Given the description of an element on the screen output the (x, y) to click on. 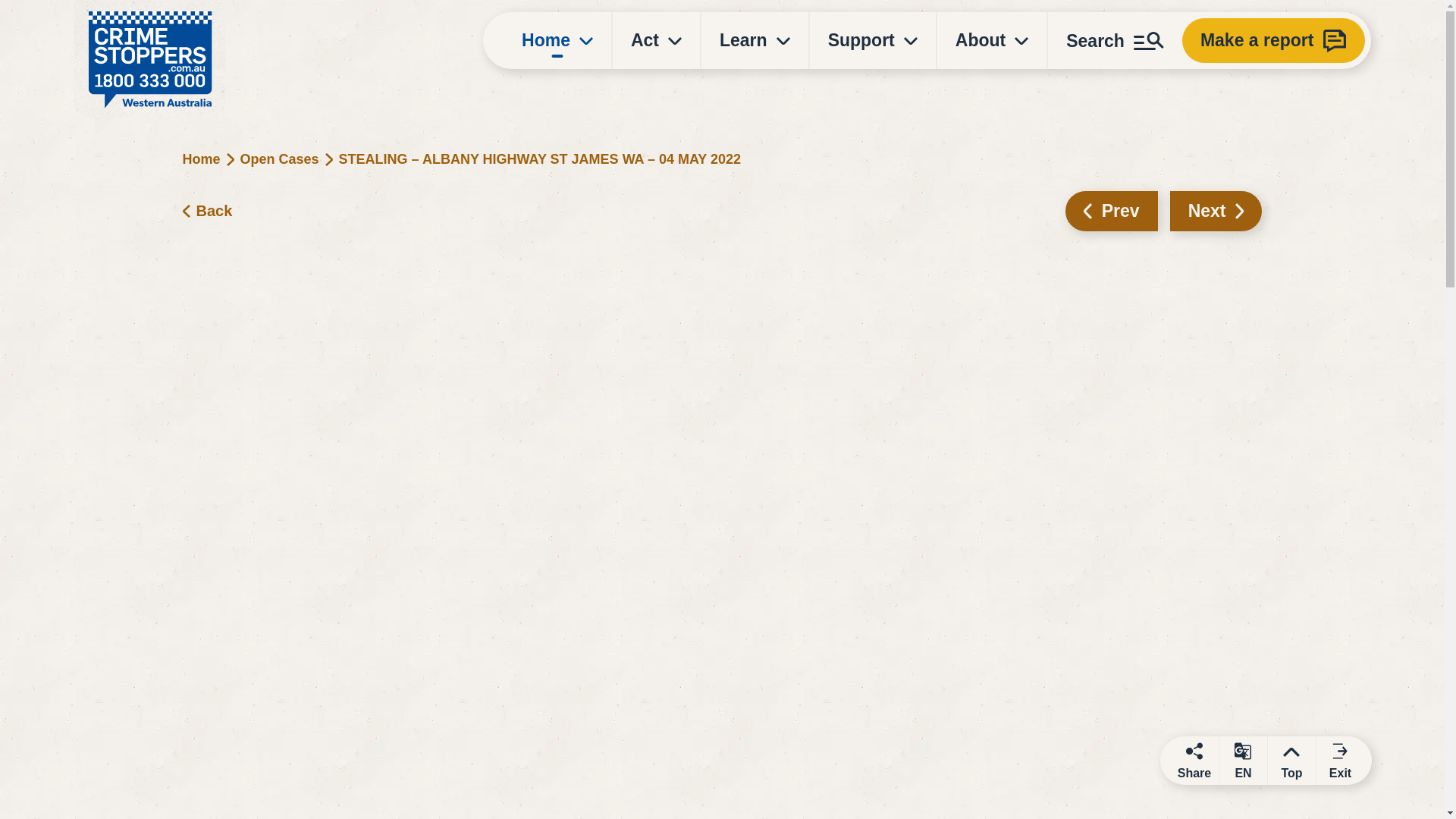
Act (656, 40)
Home (557, 40)
Support (872, 40)
Learn (754, 40)
About (991, 40)
Make a report (1273, 40)
